Given the description of an element on the screen output the (x, y) to click on. 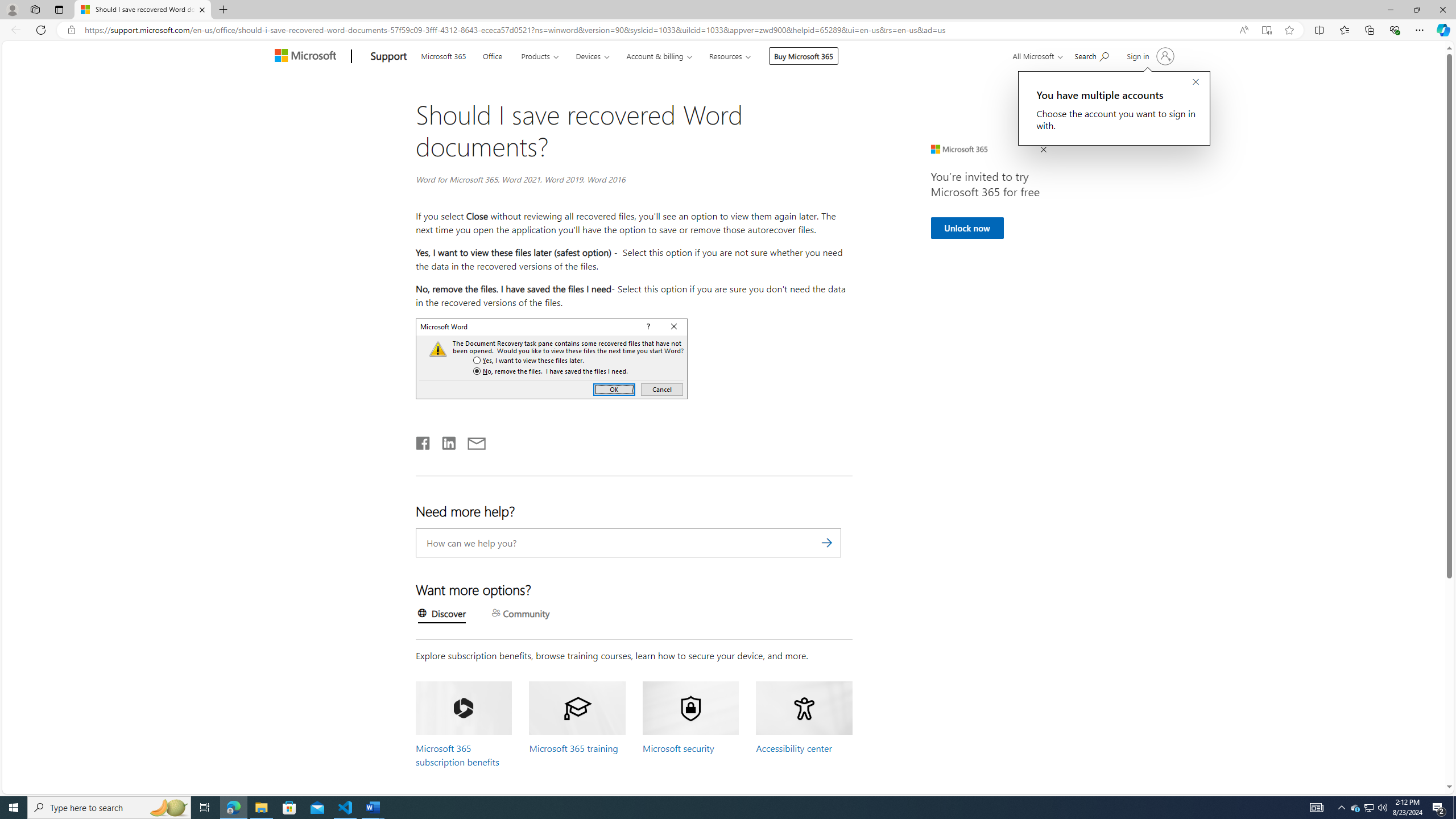
Microsoft 365 training (573, 748)
Search for help (1090, 54)
Microsoft 365 (443, 54)
Close tab (202, 9)
App bar (728, 29)
Microsoft (306, 56)
Browser essentials (1394, 29)
Microsoft 365 (443, 54)
Office (491, 54)
Tab actions menu (58, 9)
Should I save recovered Word documents? - Microsoft Support (142, 9)
Read aloud this page (Ctrl+Shift+U) (1243, 29)
Share by email (471, 441)
Support (388, 56)
